Given the description of an element on the screen output the (x, y) to click on. 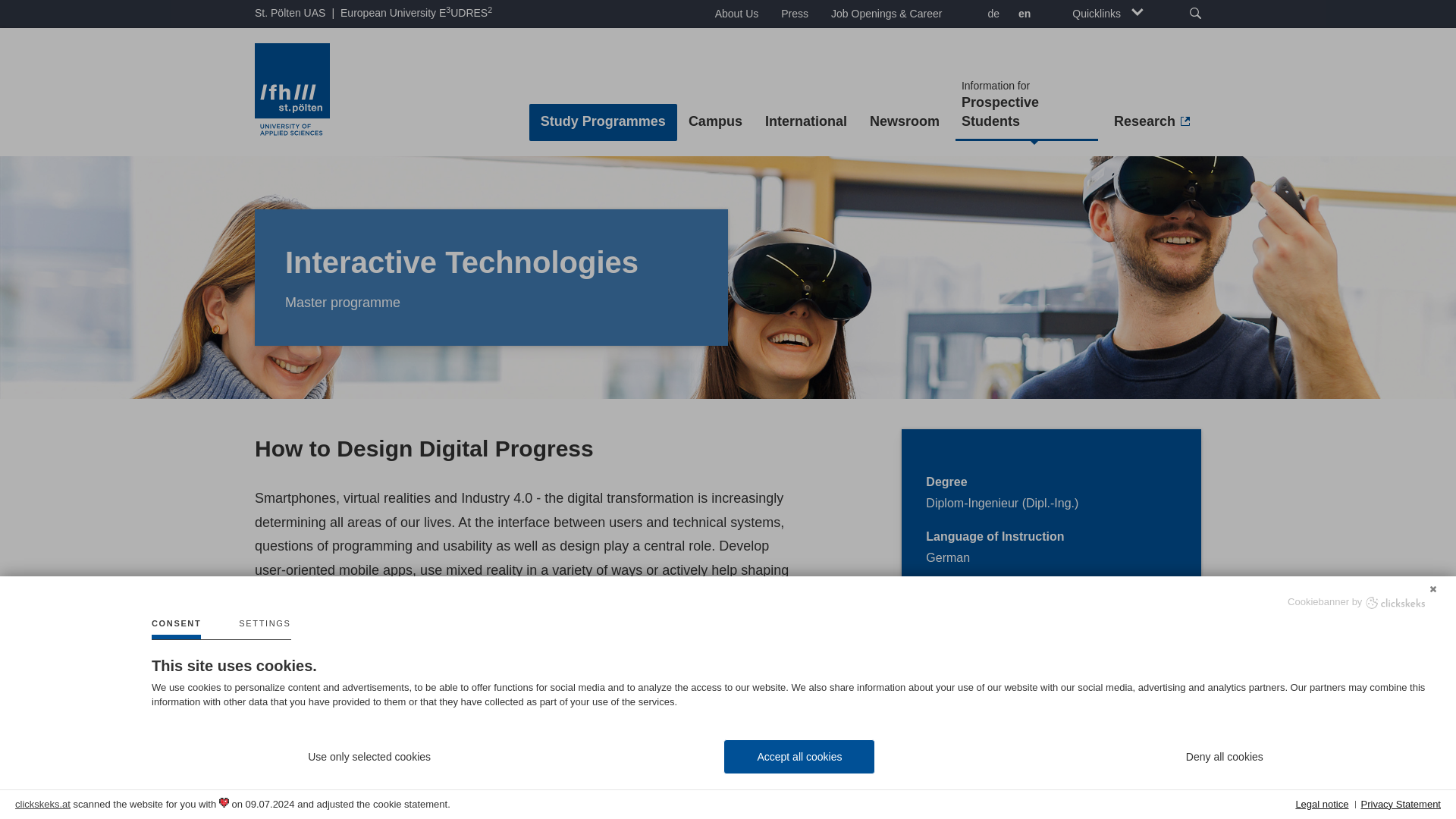
Study Programmes (603, 122)
Unterrichtssprache (322, 706)
Details (263, 628)
Quicklinks (1107, 14)
European University E3UDRES2 (416, 12)
International (806, 122)
Campus (715, 122)
Clickskeks (1395, 602)
Deutsch (991, 14)
Close (1433, 587)
Newsroom (1026, 105)
